Given the description of an element on the screen output the (x, y) to click on. 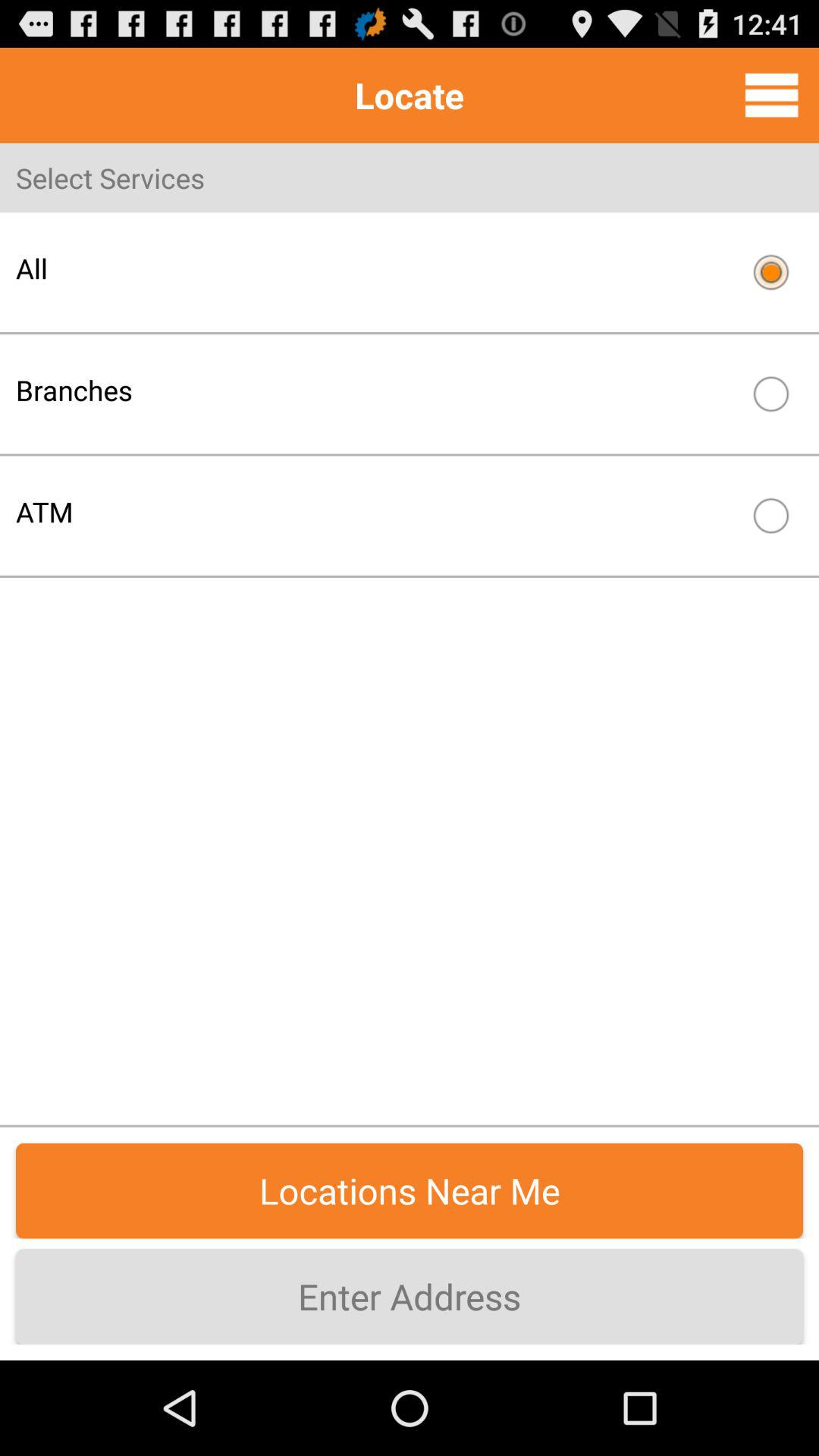
flip until locations near me (409, 1190)
